Given the description of an element on the screen output the (x, y) to click on. 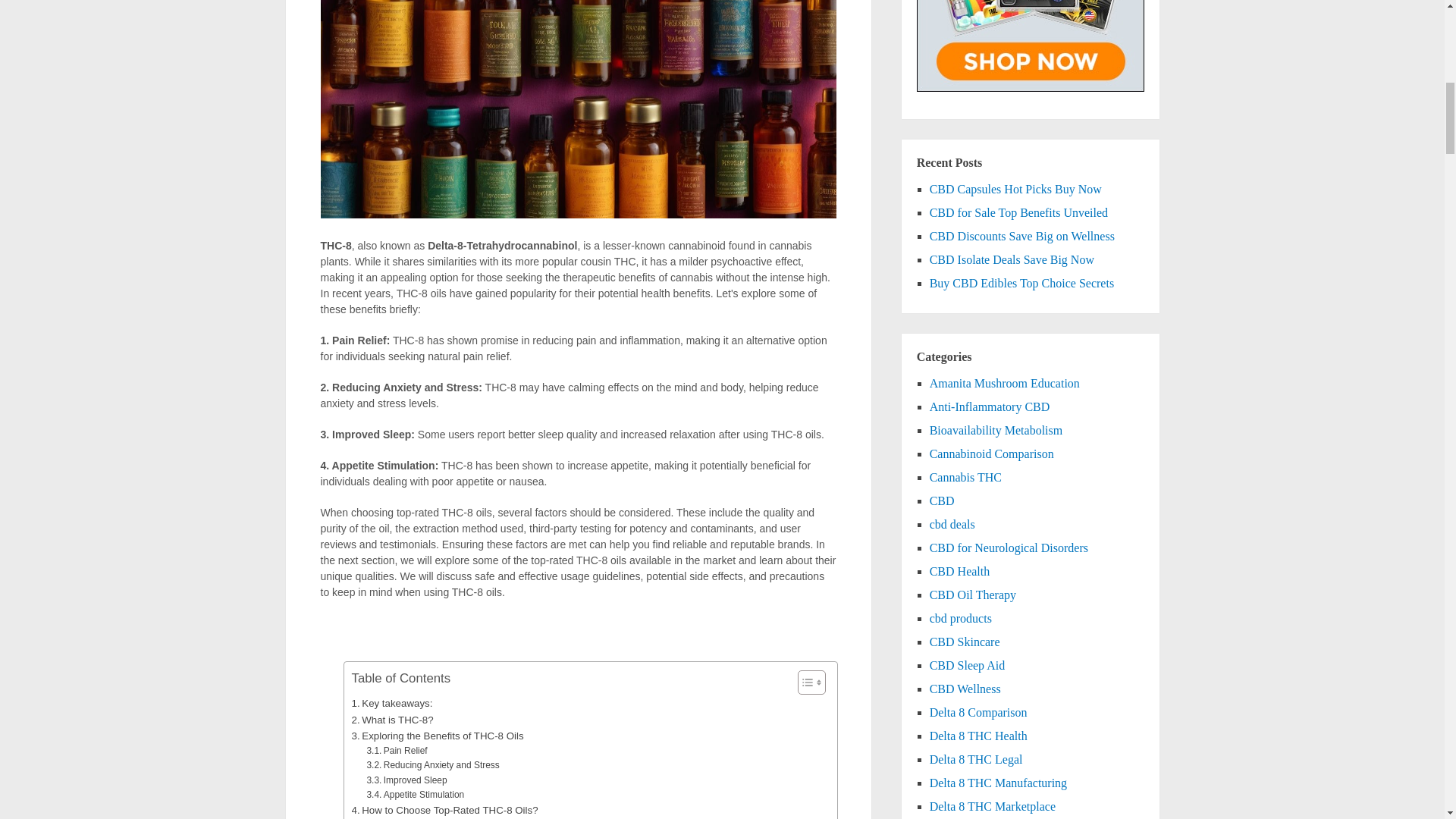
How to Choose Top-Rated THC-8 Oils? (445, 810)
What is THC-8? (392, 719)
Appetite Stimulation (415, 794)
Pain Relief (396, 750)
How to Choose Top-Rated THC-8 Oils? (445, 810)
Pain Relief (396, 750)
Reducing Anxiety and Stress (432, 765)
Key takeaways: (392, 703)
Exploring the Benefits of THC-8 Oils (438, 735)
What is THC-8? (392, 719)
